Given the description of an element on the screen output the (x, y) to click on. 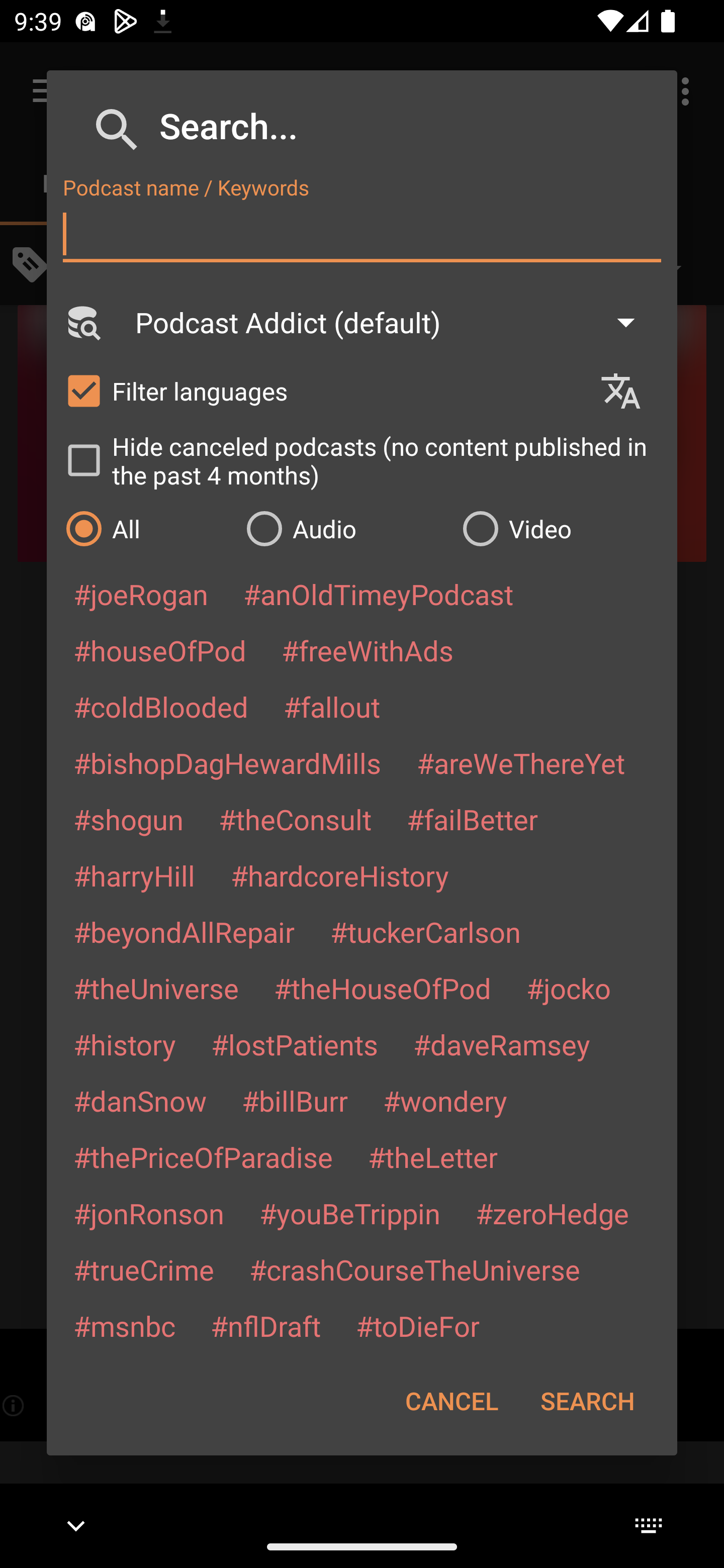
Podcast name / Keywords (361, 234)
Search Engine (82, 322)
Podcast Addict (default) (394, 322)
Languages selection (629, 390)
Filter languages (322, 390)
All (145, 528)
Audio (344, 528)
Video (560, 528)
#joeRogan (140, 594)
#anOldTimeyPodcast (378, 594)
#houseOfPod (159, 650)
#freeWithAds (367, 650)
#coldBlooded (160, 705)
#fallout (331, 705)
#bishopDagHewardMills (227, 762)
#areWeThereYet (521, 762)
#shogun (128, 818)
#theConsult (294, 818)
#failBetter (471, 818)
#harryHill (134, 875)
#hardcoreHistory (339, 875)
#beyondAllRepair (184, 931)
#tuckerCarlson (425, 931)
#theUniverse (155, 987)
#theHouseOfPod (381, 987)
#jocko (568, 987)
#history (124, 1044)
#lostPatients (294, 1044)
#daveRamsey (501, 1044)
#danSnow (139, 1100)
#billBurr (294, 1100)
#wondery (444, 1100)
#thePriceOfParadise (203, 1157)
#theLetter (432, 1157)
#jonRonson (148, 1213)
#youBeTrippin (349, 1213)
#zeroHedge (552, 1213)
#trueCrime (143, 1268)
#crashCourseTheUniverse (414, 1268)
#msnbc (124, 1325)
#nflDraft (265, 1325)
#toDieFor (417, 1325)
CANCEL (451, 1400)
SEARCH (587, 1400)
